Given the description of an element on the screen output the (x, y) to click on. 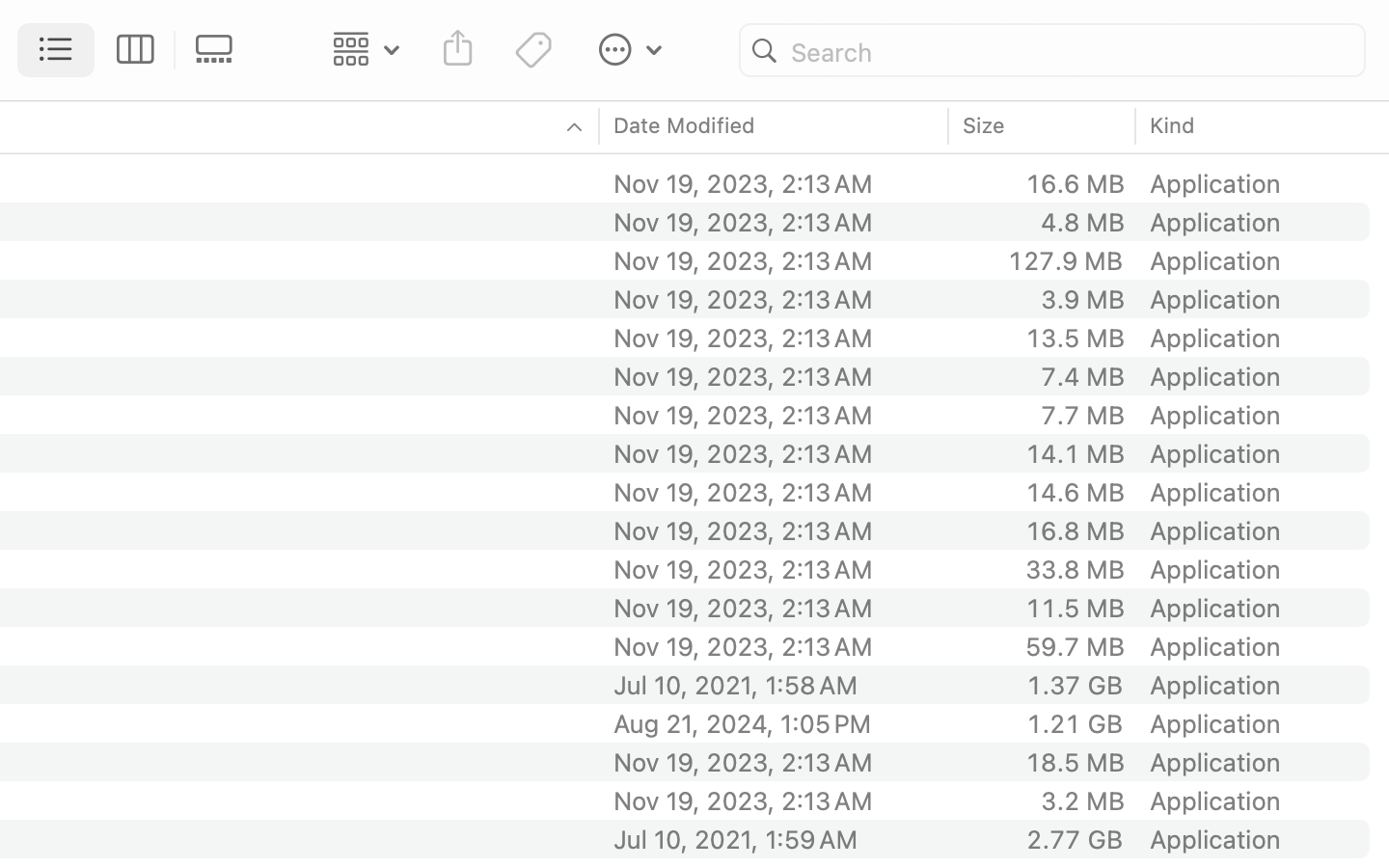
Nov 19, 2023, 2:13 AM Element type: AXStaticText (774, 645)
16.6 MB Element type: AXStaticText (1074, 182)
Jul 10, 2021, 1:59 AM Element type: AXStaticText (774, 838)
33.8 MB Element type: AXStaticText (1074, 568)
7.7 MB Element type: AXStaticText (1081, 414)
